Given the description of an element on the screen output the (x, y) to click on. 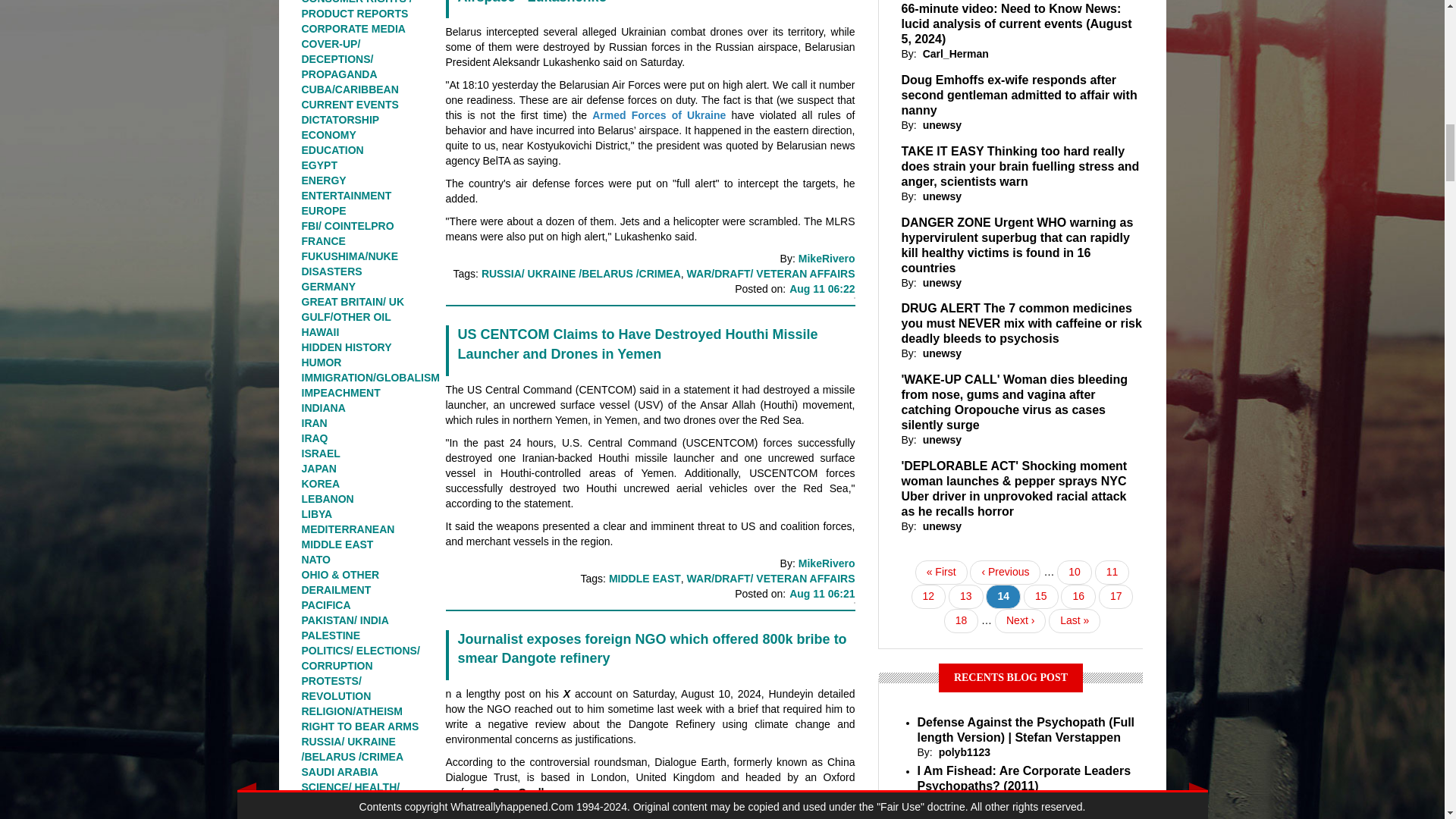
Go to page 11 (1111, 572)
Go to page 17 (1116, 596)
Go to page 15 (1040, 596)
Go to previous page (1005, 572)
Go to page 13 (966, 596)
Go to first page (941, 572)
Current page (1002, 596)
Go to page 12 (928, 596)
Go to page 16 (1078, 596)
Go to page 10 (1074, 572)
